Given the description of an element on the screen output the (x, y) to click on. 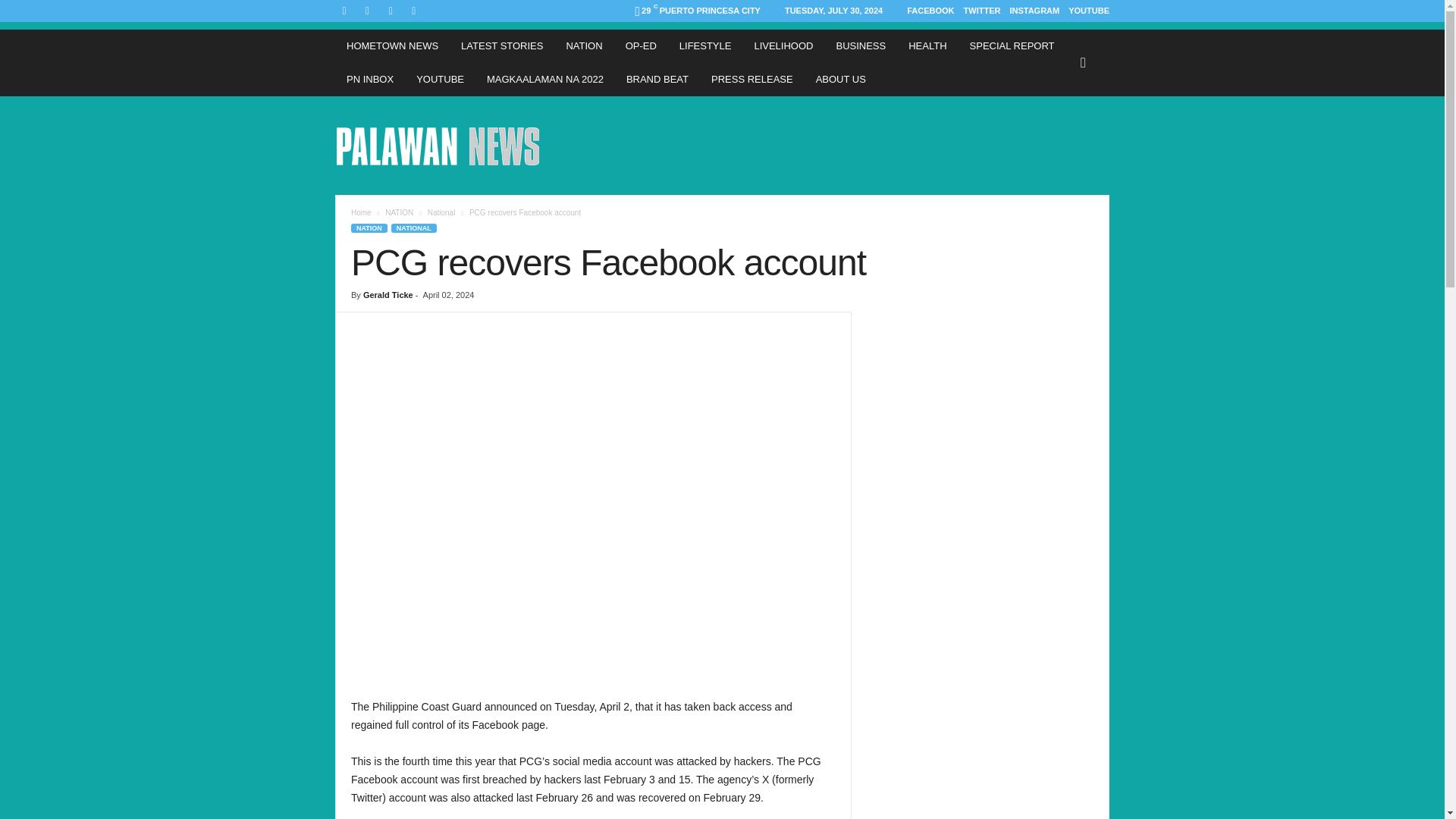
View all posts in NATION (399, 212)
Palawan News (438, 145)
View all posts in National (441, 212)
